Given the description of an element on the screen output the (x, y) to click on. 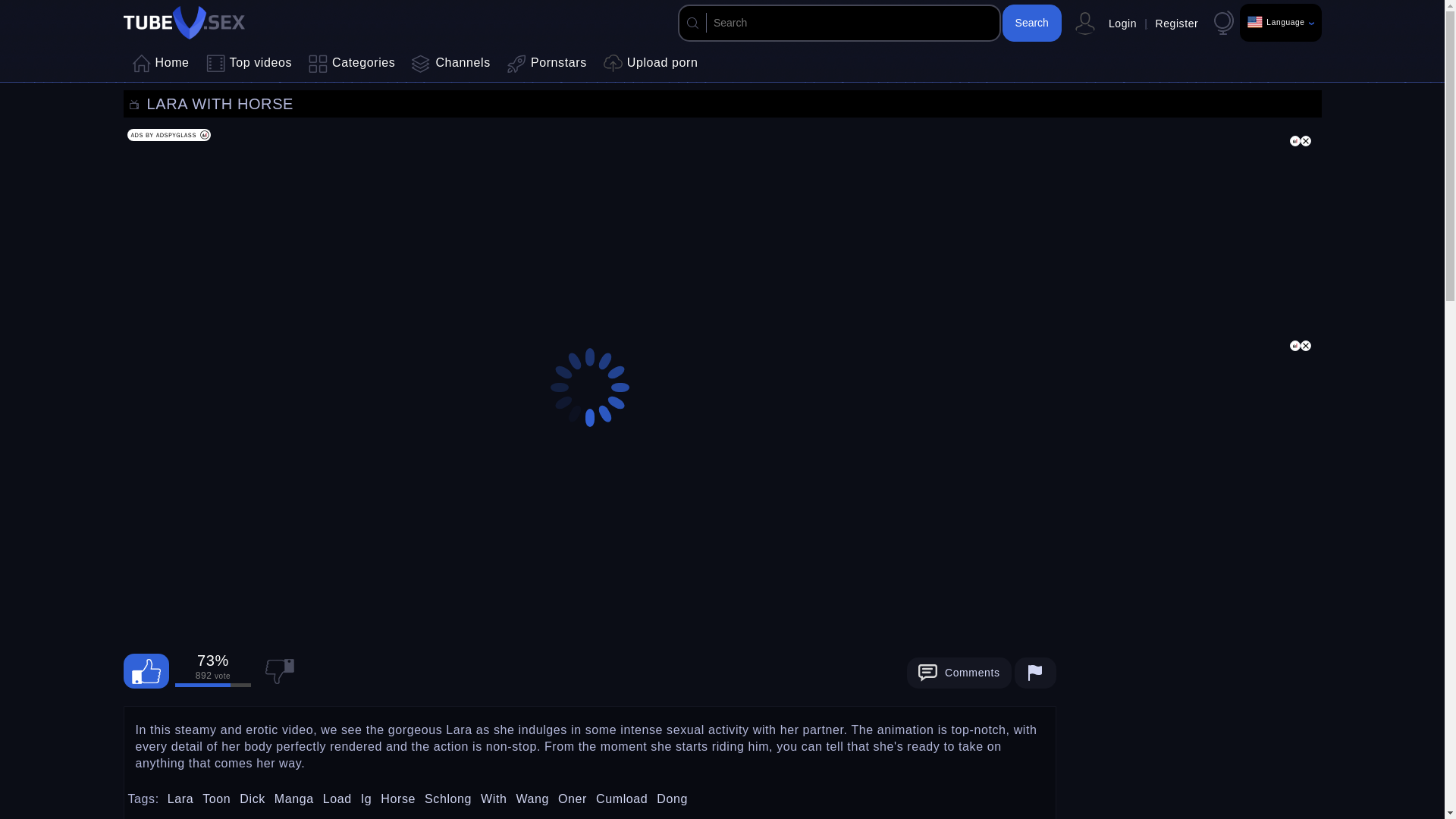
Wang (531, 799)
Comments (958, 672)
Oner (571, 799)
Upload porn (650, 63)
Search (1032, 22)
Home (159, 63)
Lara (180, 799)
Comments (680, 672)
Top videos (248, 63)
Schlong (448, 799)
